Given the description of an element on the screen output the (x, y) to click on. 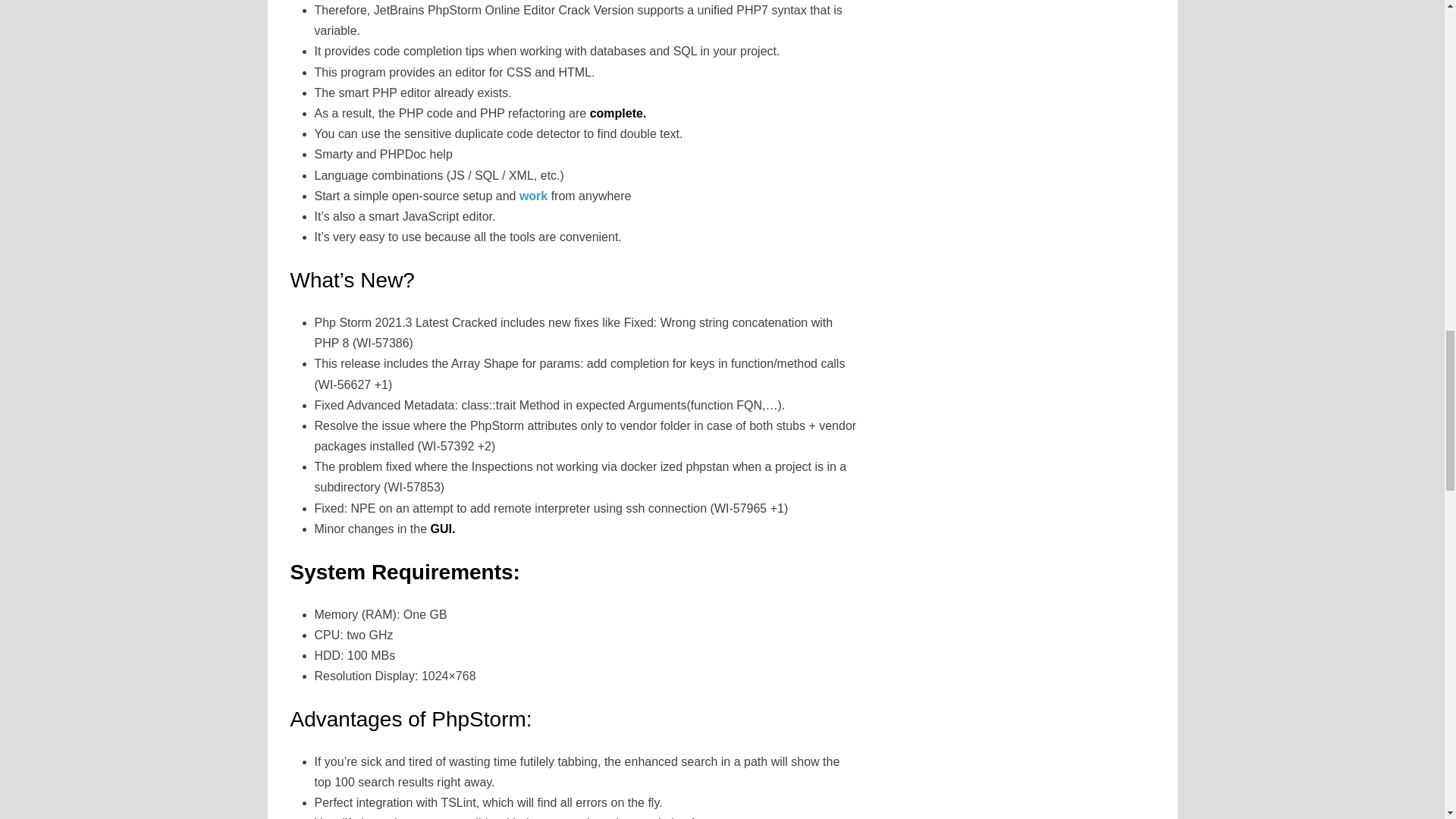
complete. (616, 113)
GUI. (440, 528)
work (533, 195)
